Given the description of an element on the screen output the (x, y) to click on. 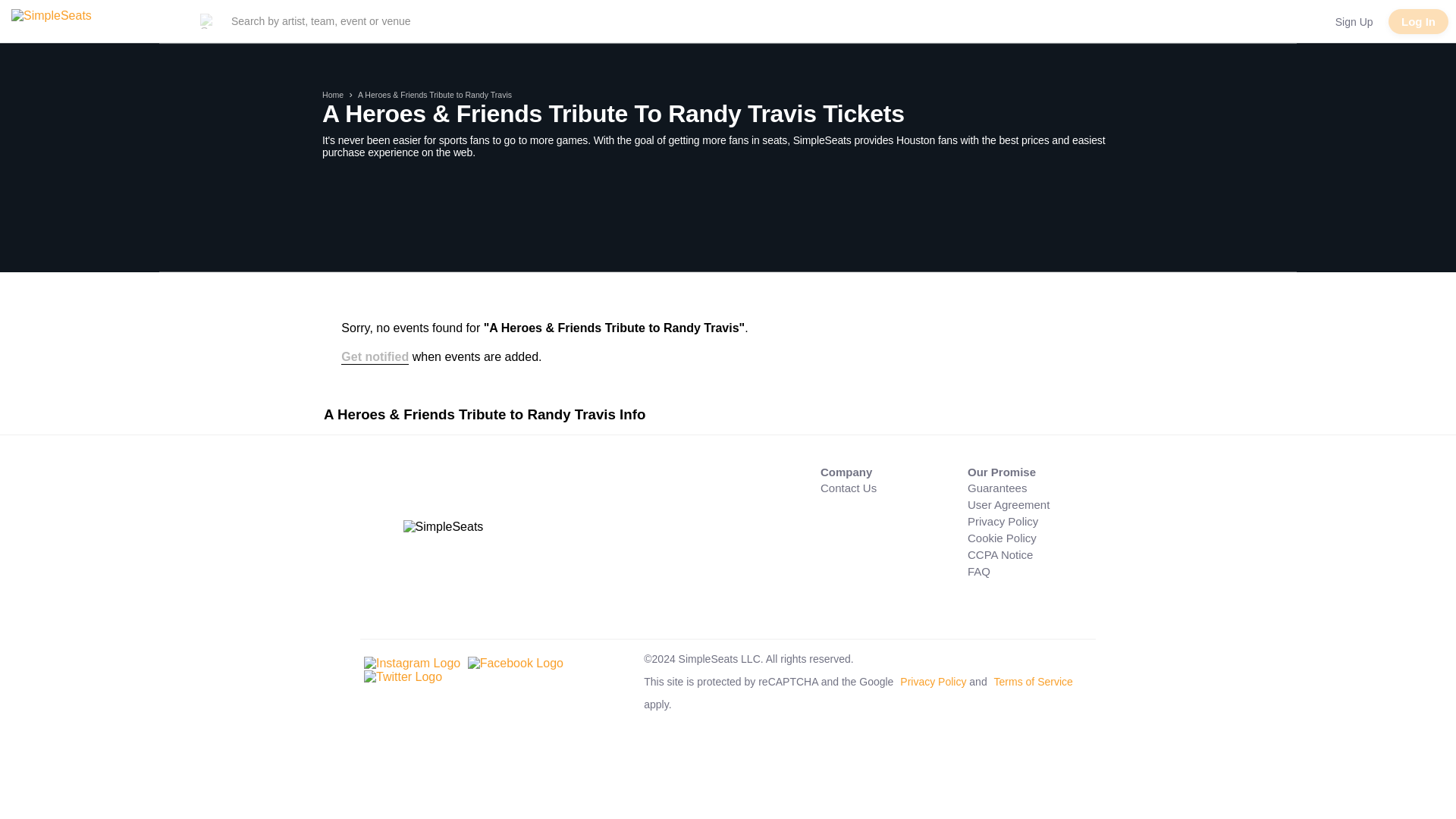
Get notified (374, 357)
Log In (1418, 21)
Home (332, 94)
SimpleSeats (87, 21)
Search (324, 21)
Sign Up (1354, 21)
